Given the description of an element on the screen output the (x, y) to click on. 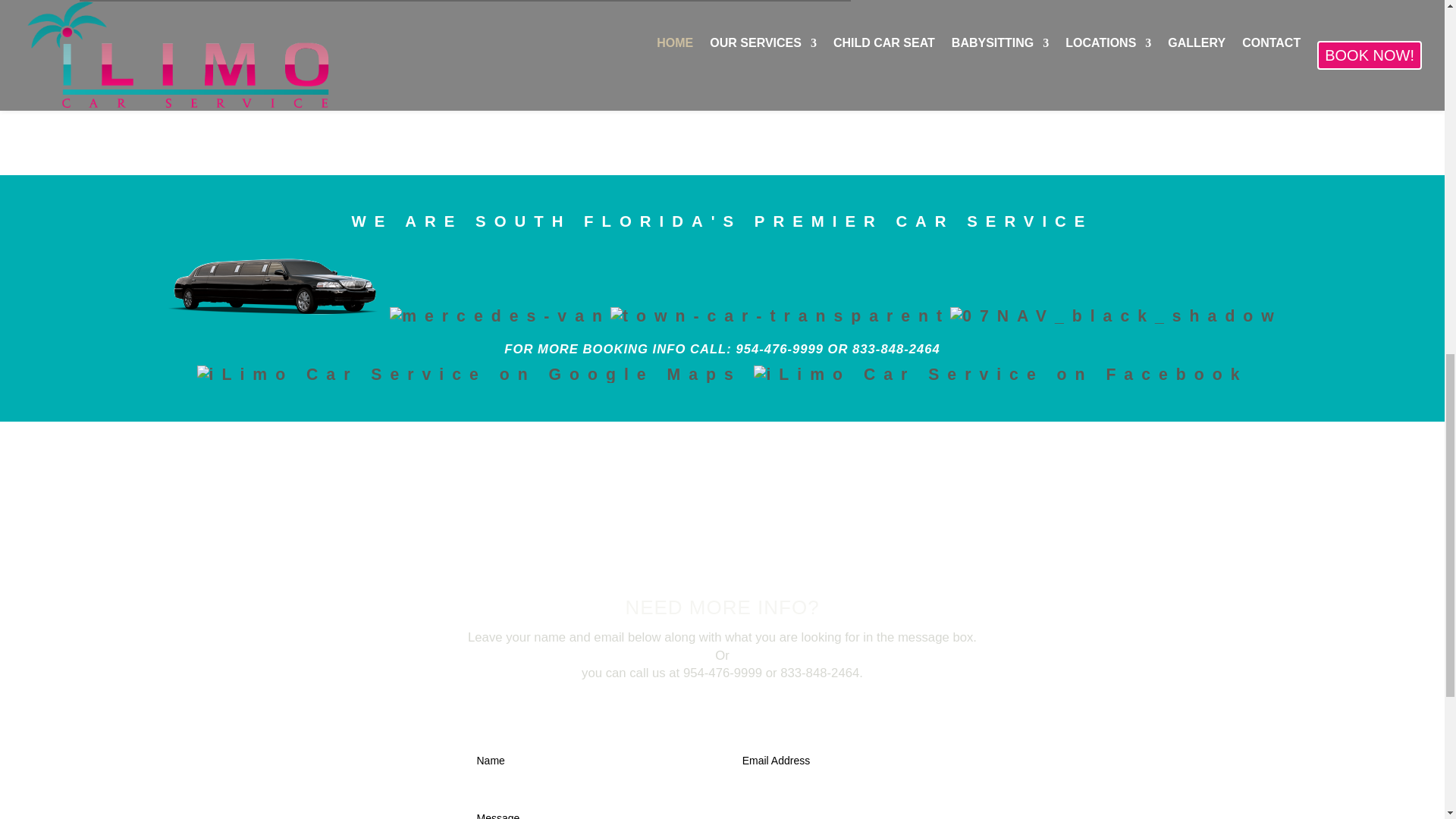
Email Address (854, 761)
iLimo Car Service on Facebook (1000, 374)
Name (589, 761)
iLimo Car Service on Google Maps (468, 374)
